Given the description of an element on the screen output the (x, y) to click on. 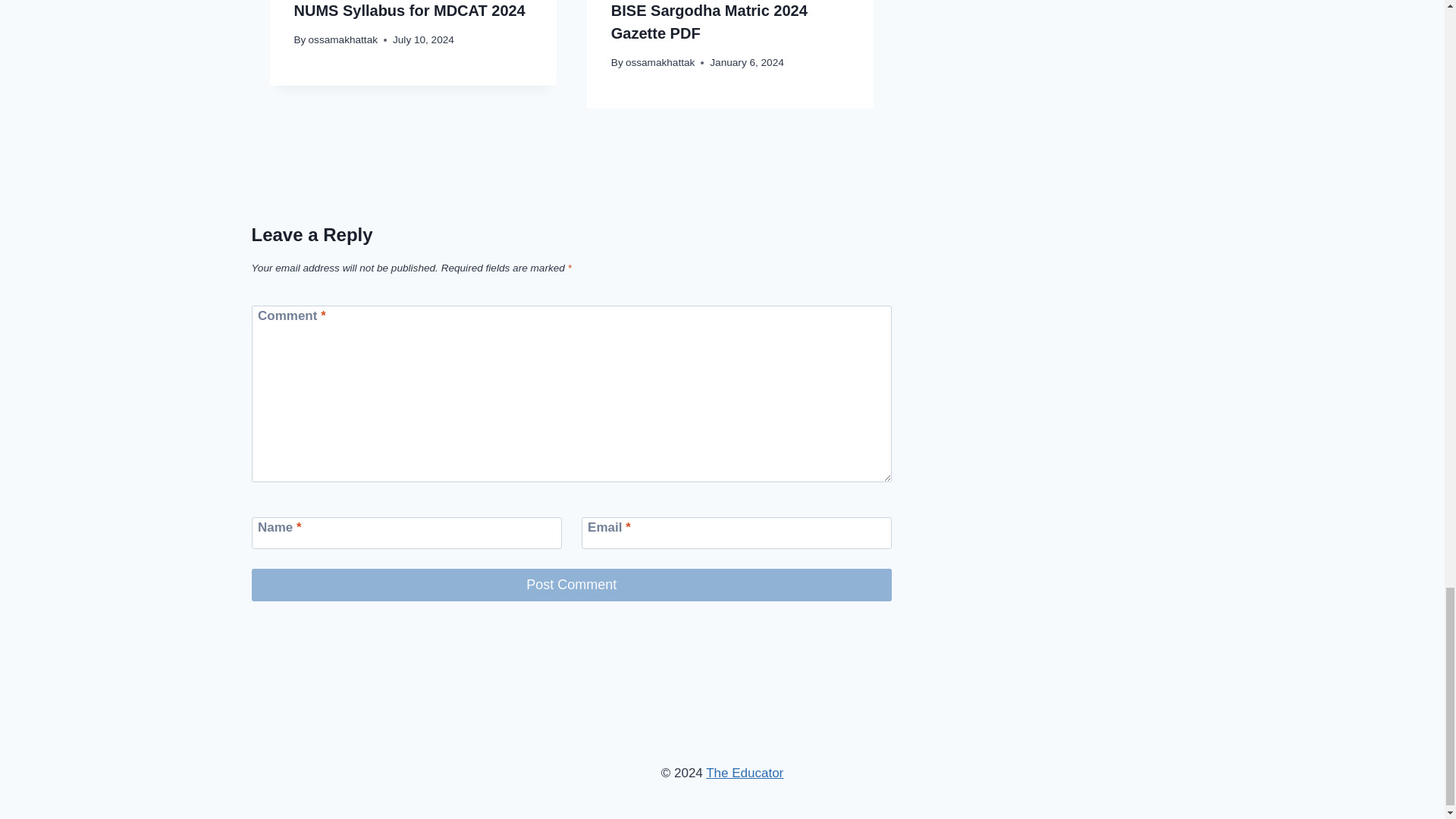
Post Comment (571, 584)
